Given the description of an element on the screen output the (x, y) to click on. 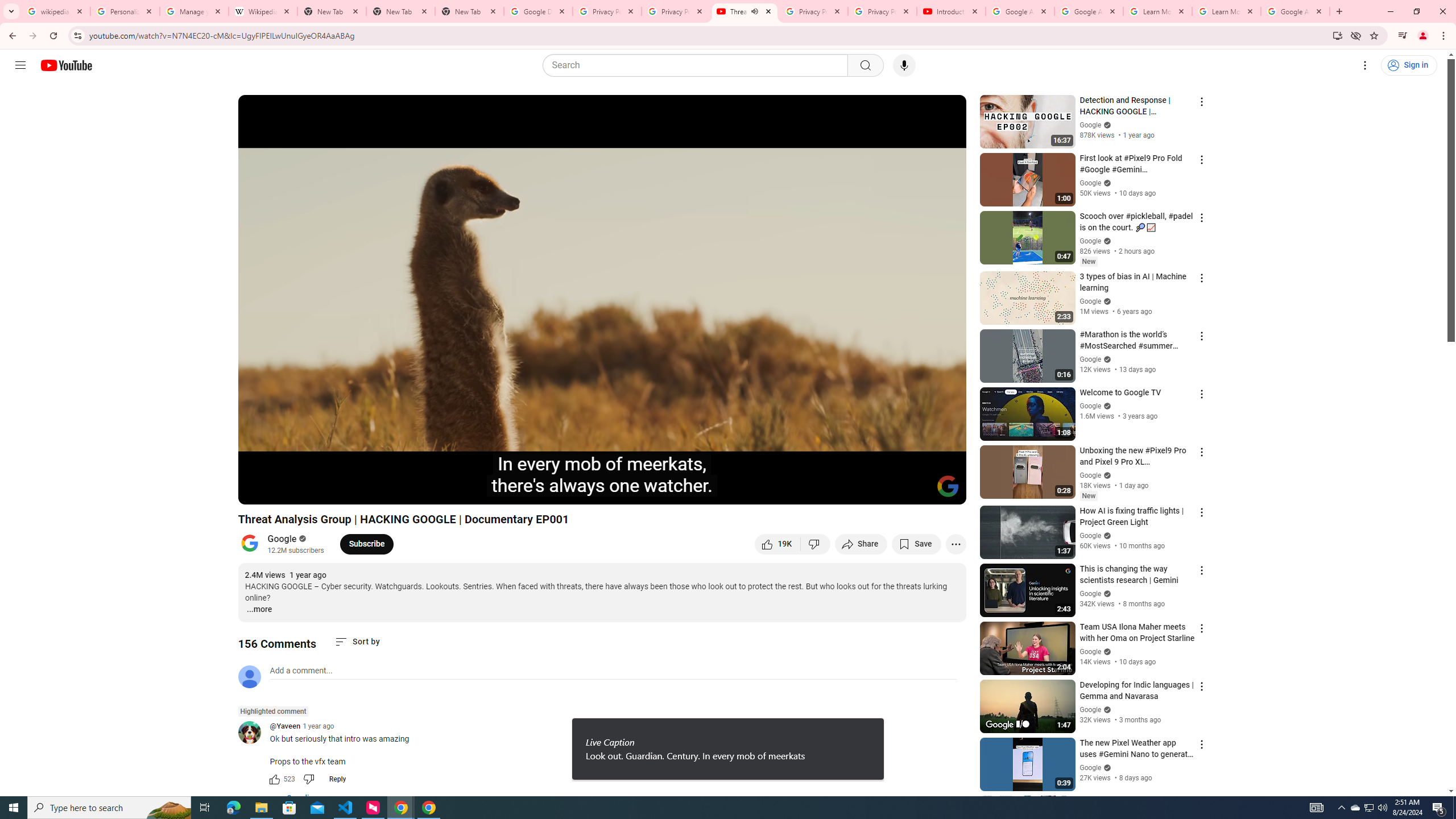
like this video along with 19,267 other people (777, 543)
New Tab (400, 11)
New Tab (469, 11)
Sort comments (357, 641)
Google Account Help (1019, 11)
@Yaveen (285, 726)
Full screen (f) (945, 490)
Autoplay is on (808, 490)
1 year ago (318, 726)
